Given the description of an element on the screen output the (x, y) to click on. 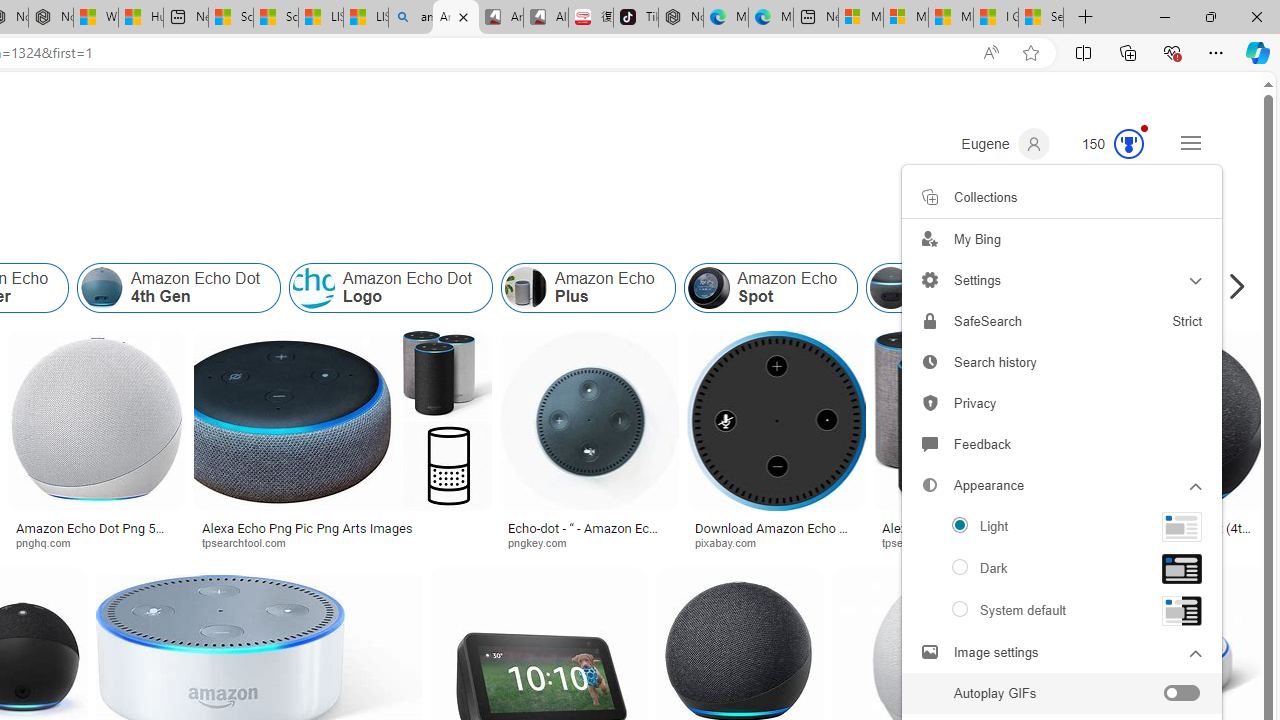
Class: rdio-icon (959, 609)
Image result for Amazon Echo Dot PNG (1175, 421)
I Gained 20 Pounds of Muscle in 30 Days! | Watch (995, 17)
Settings and quick links (1190, 142)
Alexa Echo Png Pic Png Arts Images (342, 528)
Echo Dot Generations (1162, 287)
Search history (1062, 362)
Huge shark washes ashore at New York City beach | Watch (140, 17)
Amazon Echo Dot Png 542 Download (96, 534)
Appearance (1062, 485)
Amazon Echo Dot 3 (891, 287)
